Given the description of an element on the screen output the (x, y) to click on. 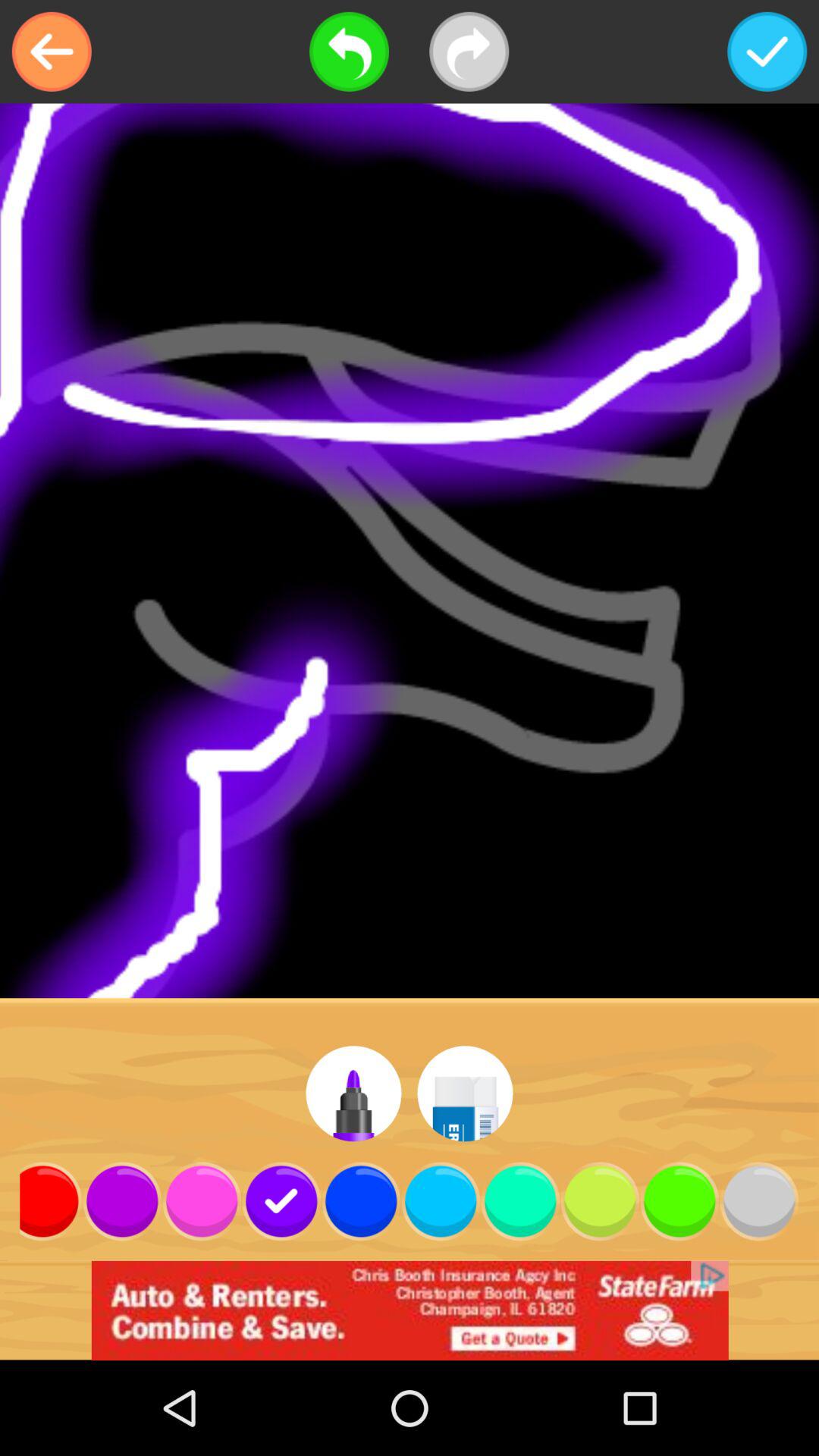
select option (767, 51)
